Given the description of an element on the screen output the (x, y) to click on. 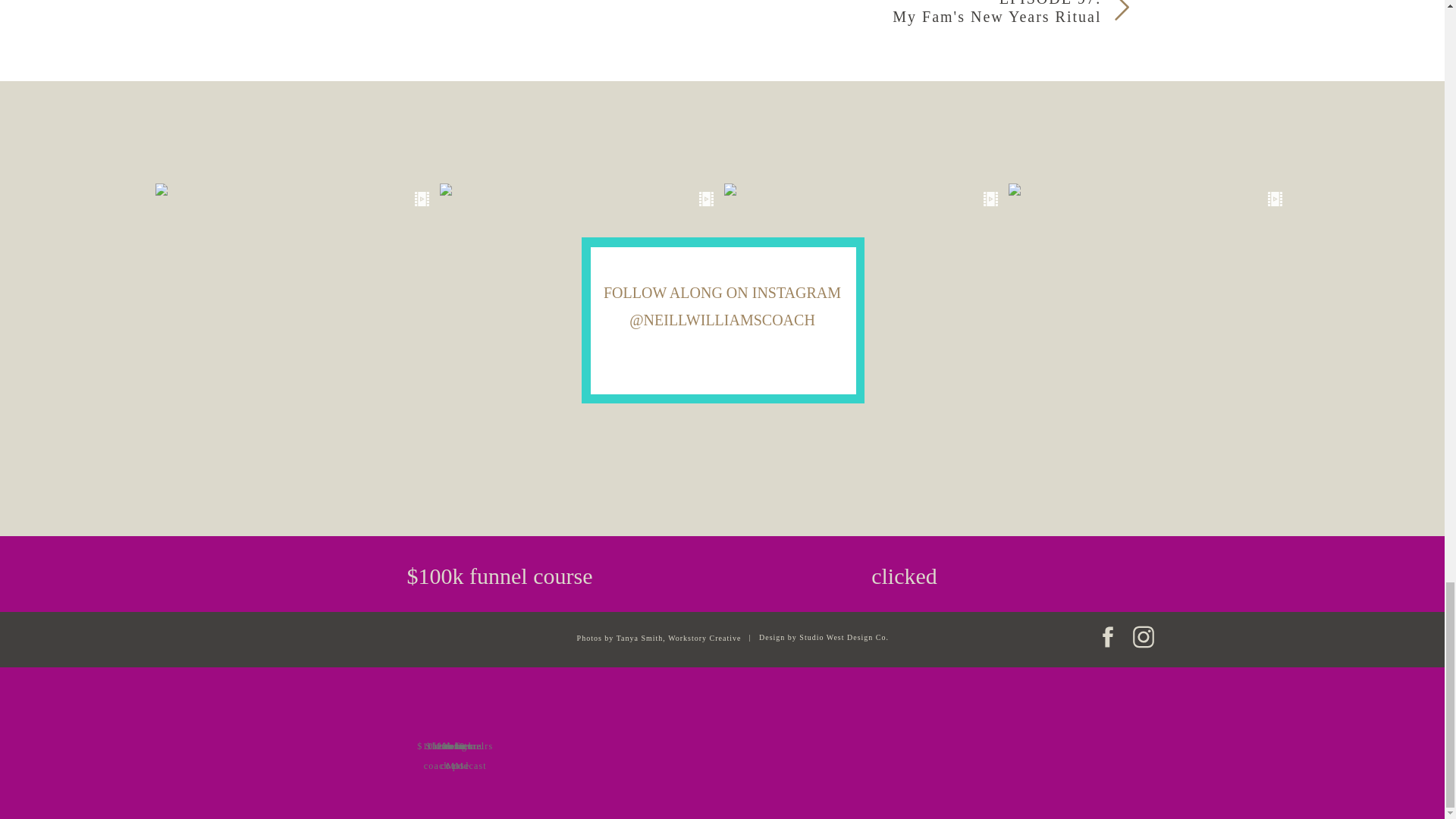
Photos by Tanya Smith, Workstory Creative (635, 636)
clicked (904, 574)
home (455, 743)
